Given the description of an element on the screen output the (x, y) to click on. 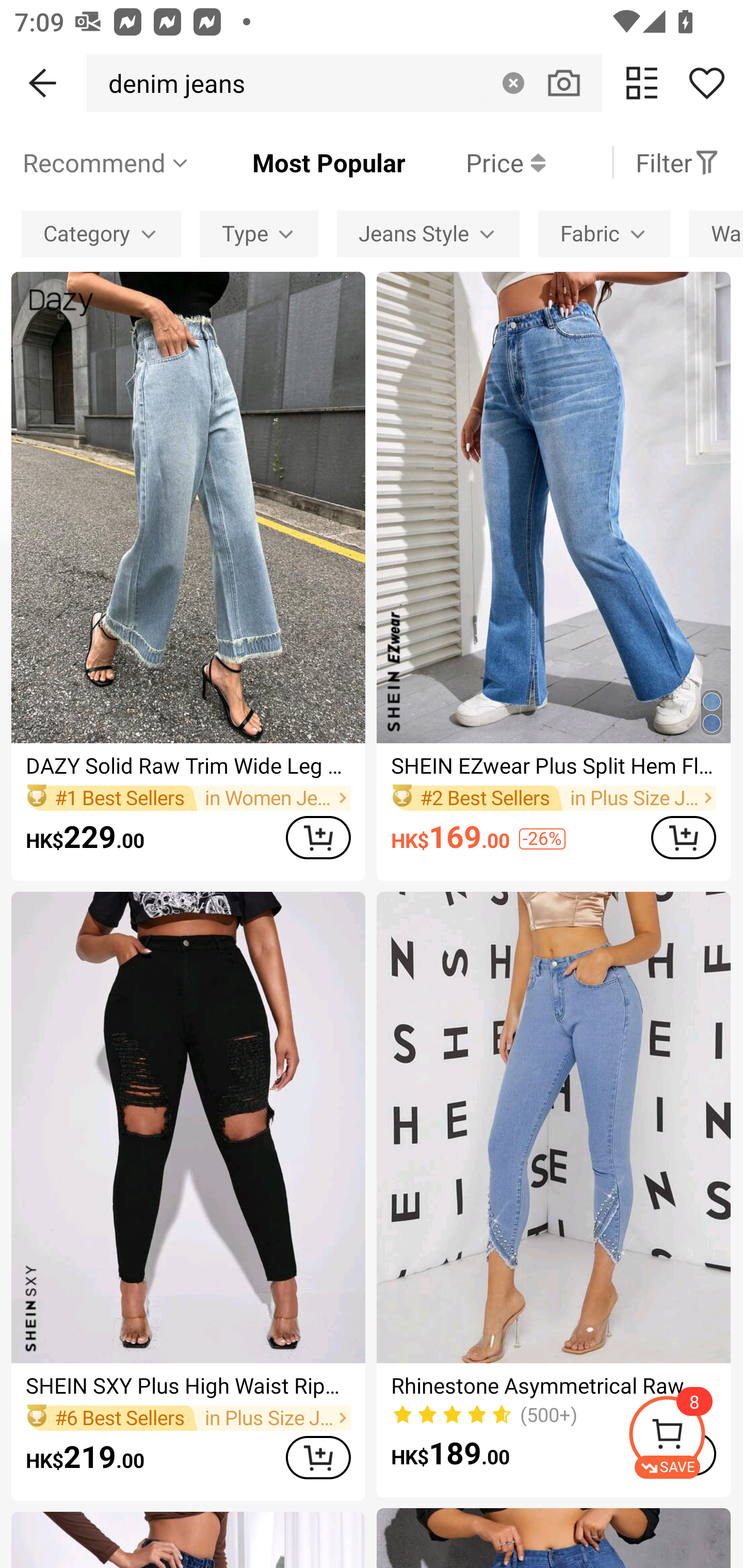
denim jeans Clear (343, 82)
denim jeans (170, 82)
Clear (513, 82)
change view (641, 82)
Share (706, 82)
Recommend (106, 162)
Most Popular (297, 162)
Price (474, 162)
Filter (677, 162)
Category (101, 233)
Type (258, 233)
Jeans Style (427, 233)
Fabric (603, 233)
#1 Best Sellers in Women Jeans (188, 798)
#2 Best Sellers in Plus Size Jeans (553, 798)
ADD TO CART (318, 837)
ADD TO CART (683, 837)
SAVE (685, 1436)
#6 Best Sellers in Plus Size Jeans (188, 1417)
ADD TO CART (318, 1457)
